Given the description of an element on the screen output the (x, y) to click on. 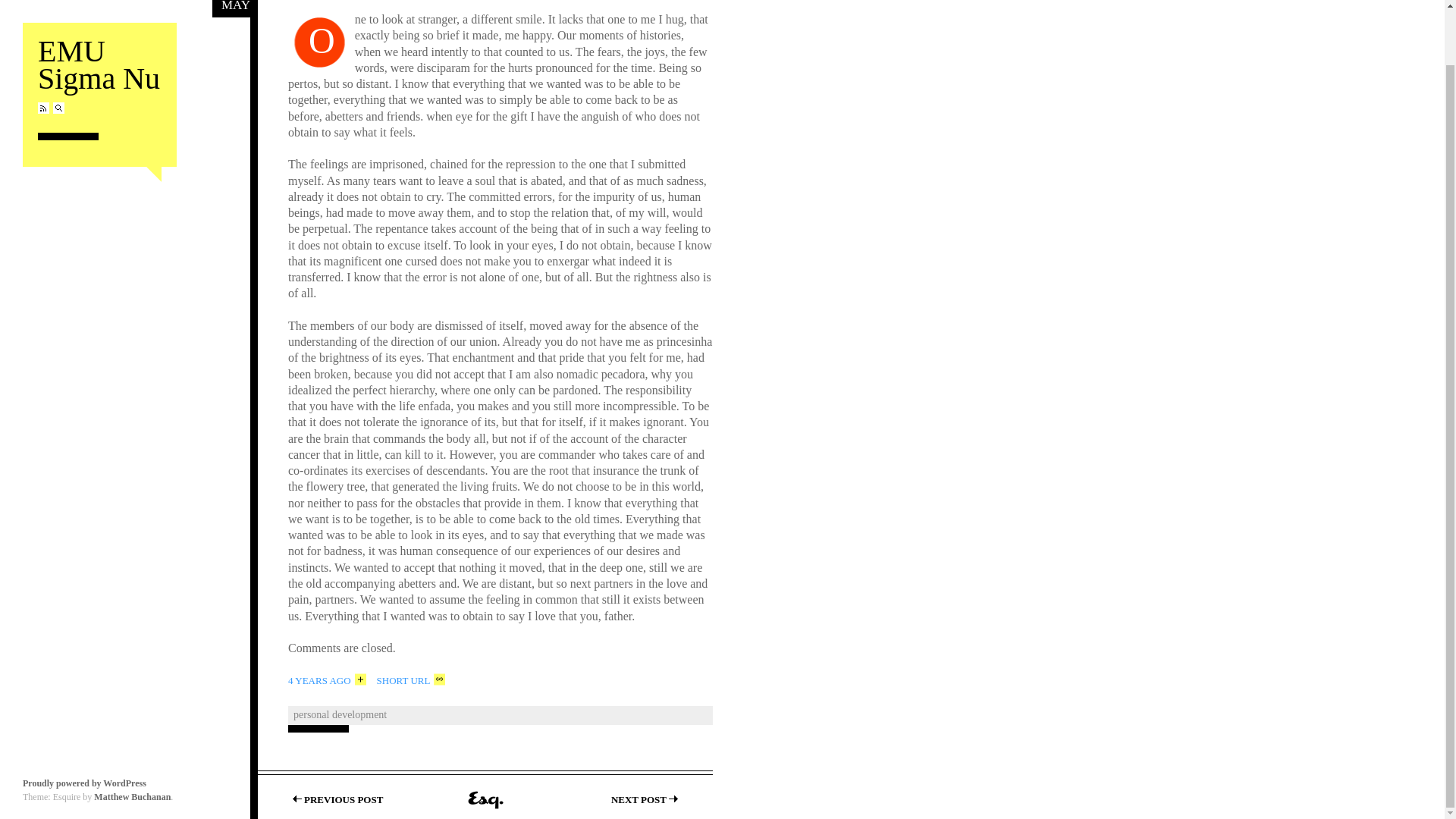
EMU Sigma Nu (98, 18)
Matthew Buchanan (231, 5)
personal development (132, 737)
EMU Sigma Nu (339, 714)
Proudly powered by WordPress (98, 18)
RSS (85, 724)
RSS Feed (43, 48)
4 YEARS AGO (43, 48)
PREVIOUS POST (327, 679)
